Given the description of an element on the screen output the (x, y) to click on. 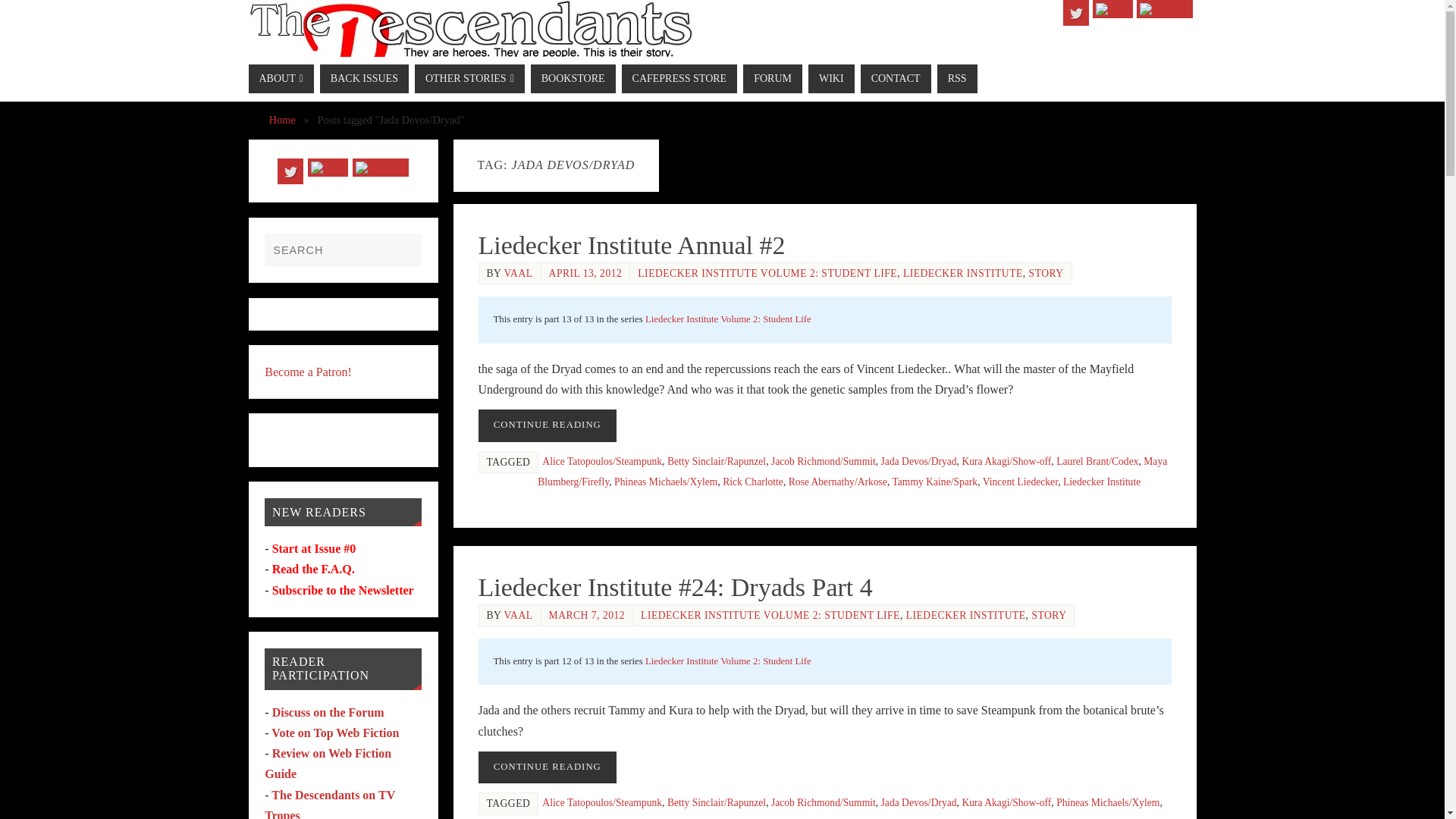
Liedecker Institute Volume 2: Student Life (727, 318)
RSS (1112, 9)
View all posts by Vaal (517, 273)
ABOUT (281, 78)
Twitter (1075, 12)
View all posts by Vaal (517, 614)
Home (282, 119)
BOOKSTORE (573, 78)
CONTINUE READING (546, 425)
FORUM (772, 78)
